Given the description of an element on the screen output the (x, y) to click on. 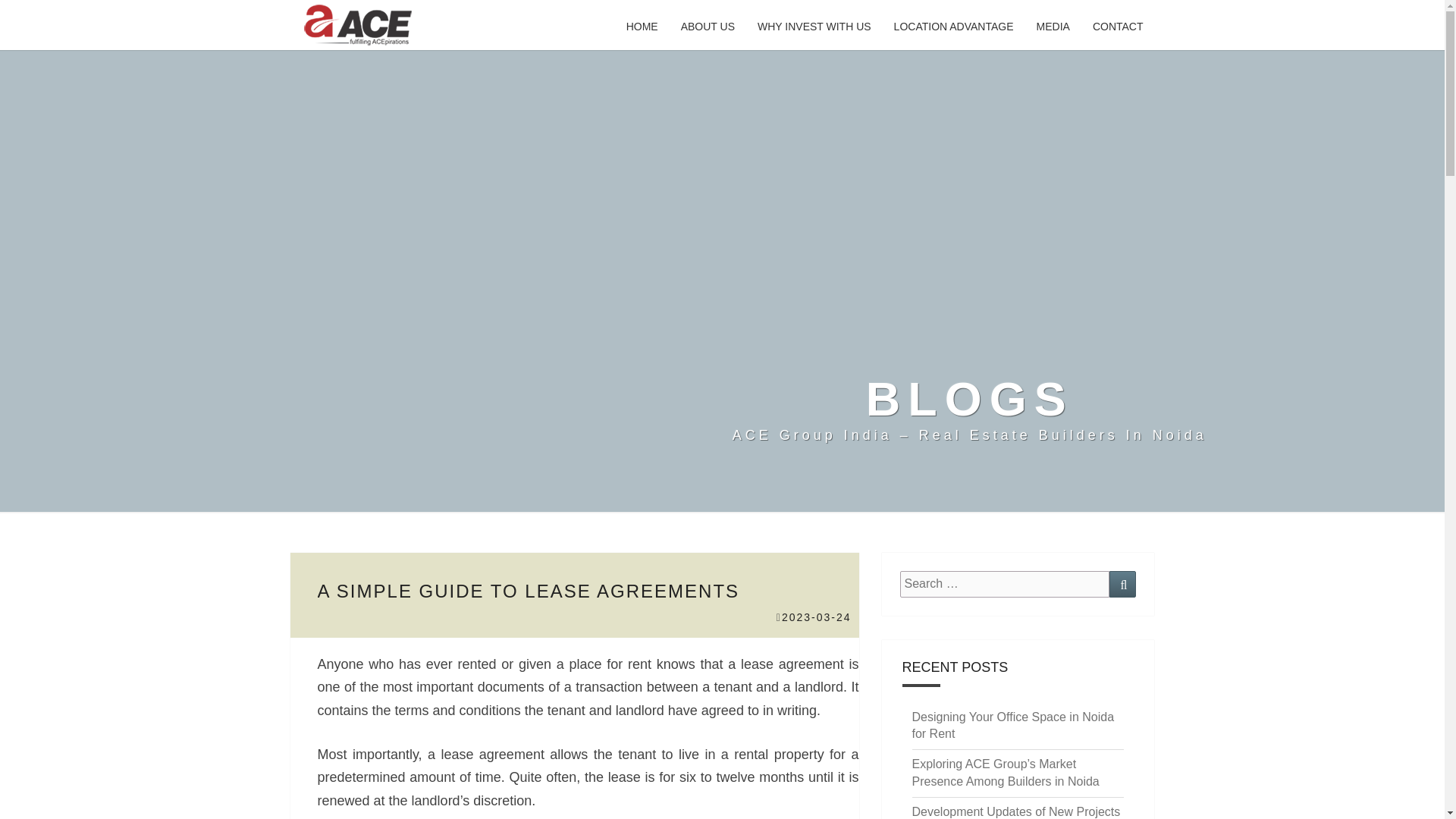
HOME (641, 27)
Search for: (1004, 583)
WHY INVEST WITH US (813, 27)
CONTACT (1117, 27)
Search (1122, 583)
LOCATION ADVANTAGE (953, 27)
MEDIA (1053, 27)
Designing Your Office Space in Noida for Rent (1012, 725)
ABOUT US (707, 27)
Blogs (969, 409)
